Given the description of an element on the screen output the (x, y) to click on. 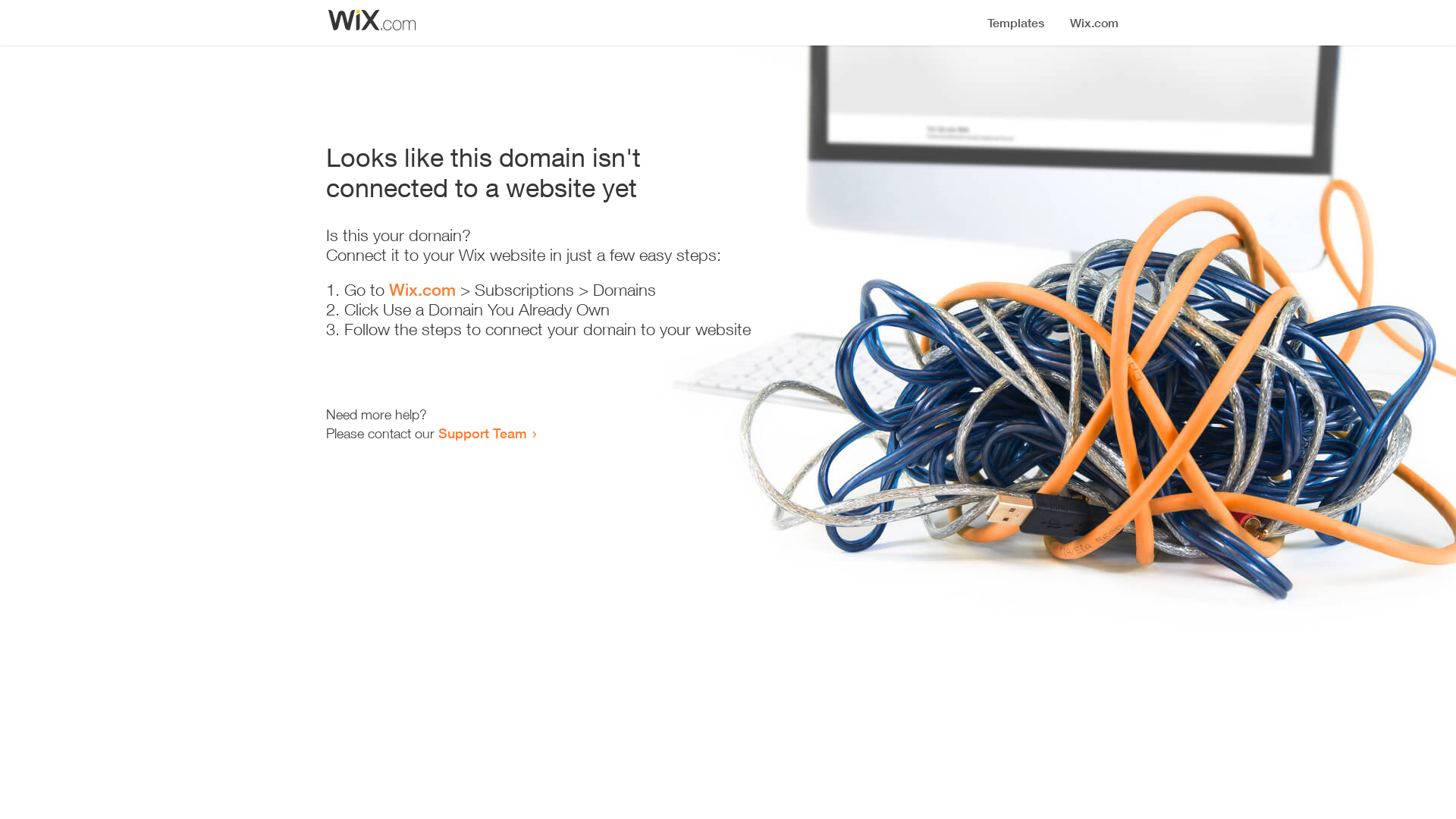
Support Team Element type: text (482, 432)
Wix.com Element type: text (422, 289)
